Given the description of an element on the screen output the (x, y) to click on. 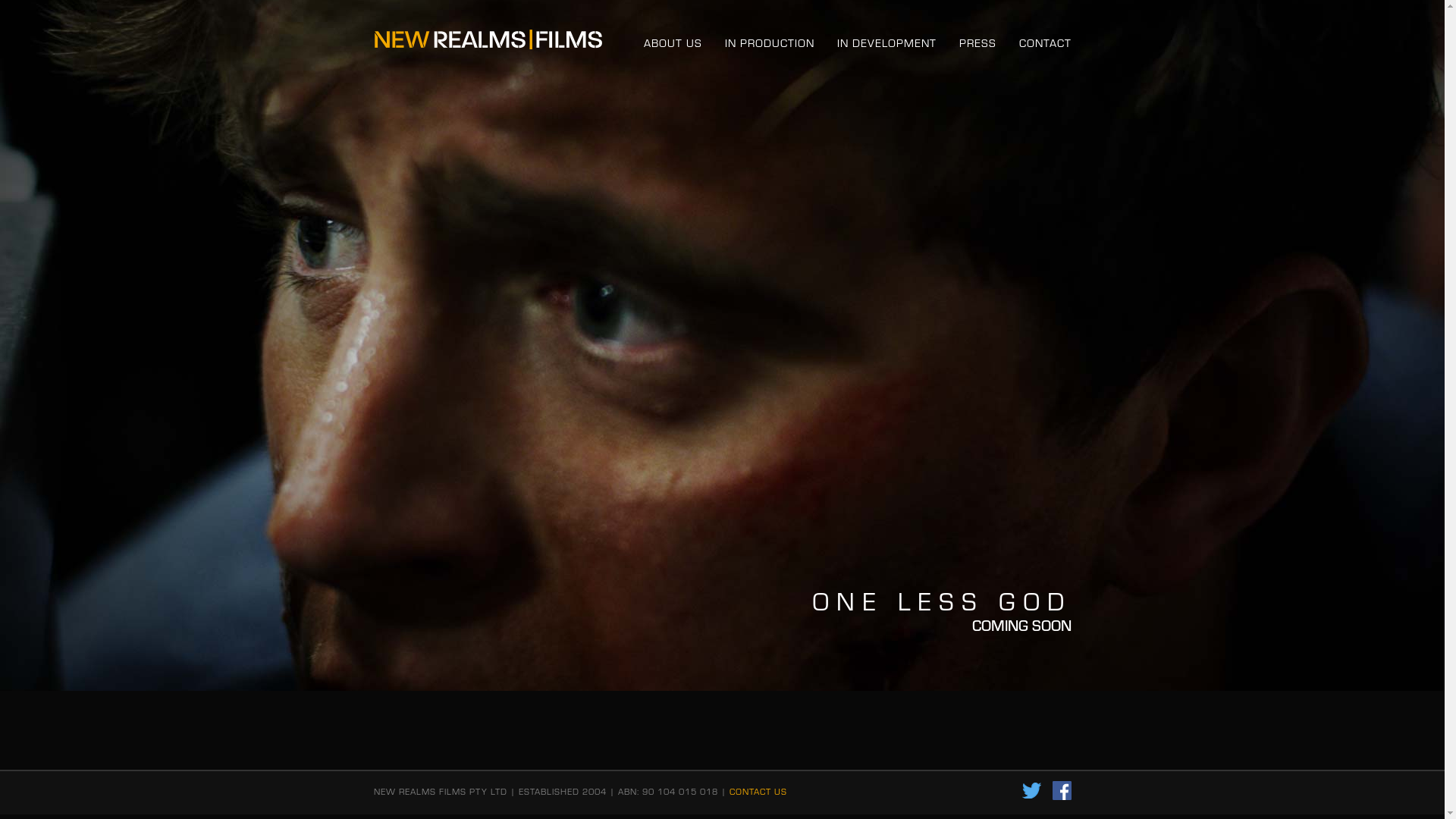
CONTACT Element type: text (1045, 42)
IN DEVELOPMENT Element type: text (886, 42)
ABOUT US Element type: text (672, 42)
IN PRODUCTION Element type: text (769, 42)
CONTACT US Element type: text (758, 790)
PRESS Element type: text (976, 42)
